Given the description of an element on the screen output the (x, y) to click on. 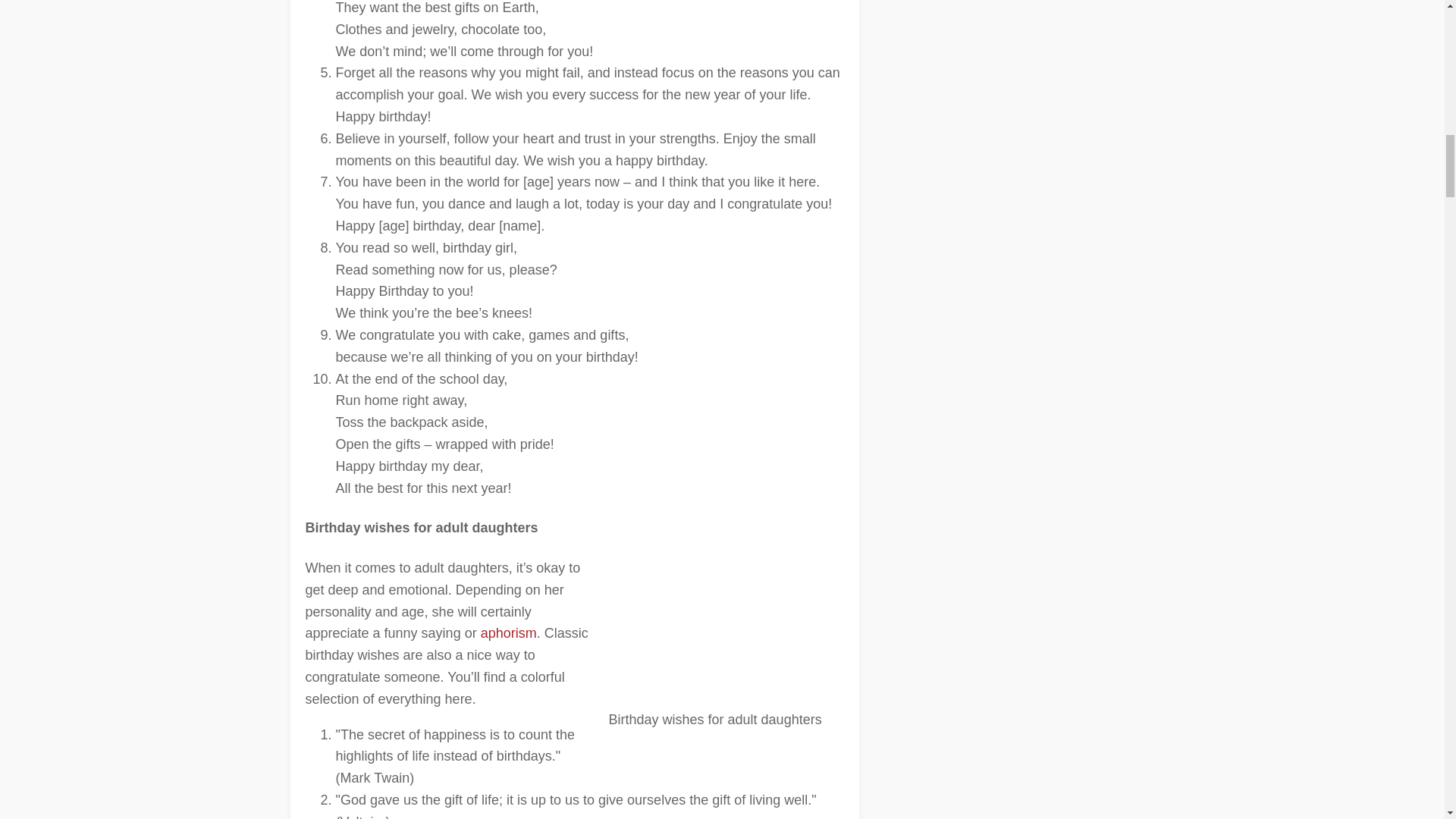
aphorism (508, 632)
